Given the description of an element on the screen output the (x, y) to click on. 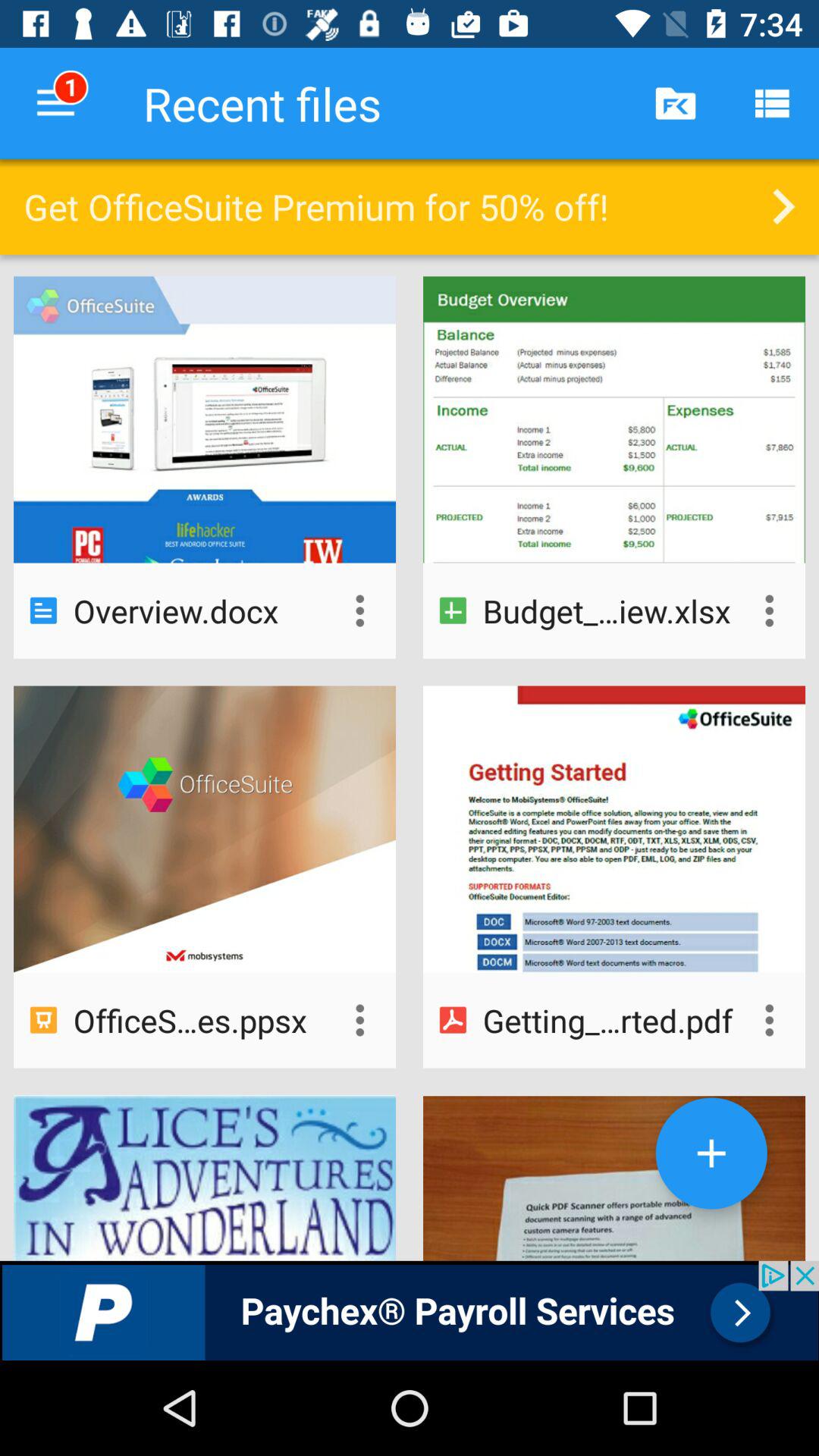
select advertisement (409, 1310)
